Given the description of an element on the screen output the (x, y) to click on. 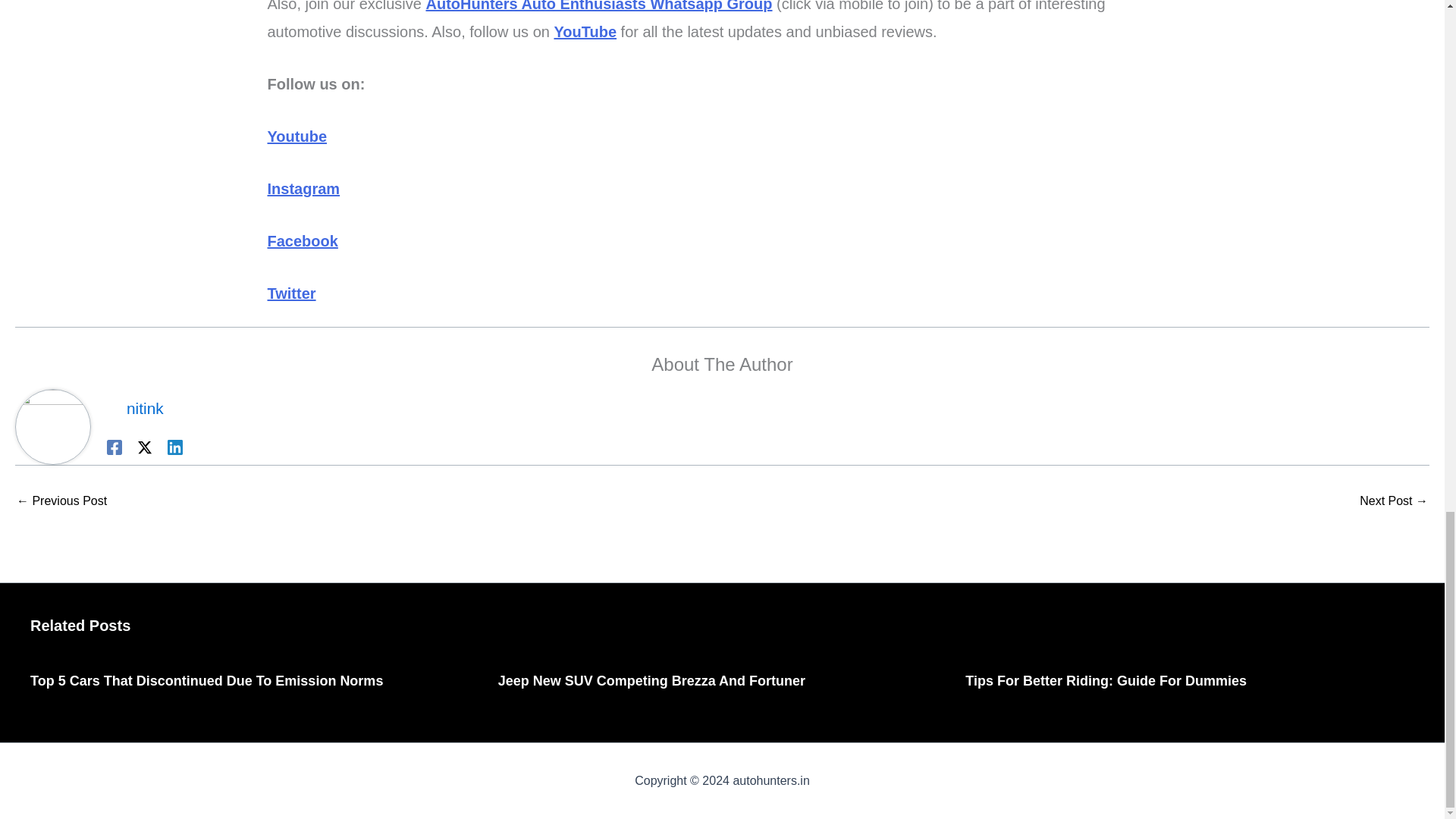
Top 5 Cars That Discontinued Due To Emission Norms (206, 680)
Jeep New SUV Competing Brezza And Fortuner (651, 680)
Hero Removes All 200CC Offerings From Official Website (61, 500)
nitink (144, 408)
Facebook (301, 240)
Toyota Fortuner Facelift Spied: Will Unveil In Mid-2020 (1393, 500)
AutoHunters Auto Enthusiasts Whatsapp Group (598, 6)
Tips For Better Riding: Guide For Dummies (1105, 680)
Twitter (290, 293)
Instagram (302, 188)
